Given the description of an element on the screen output the (x, y) to click on. 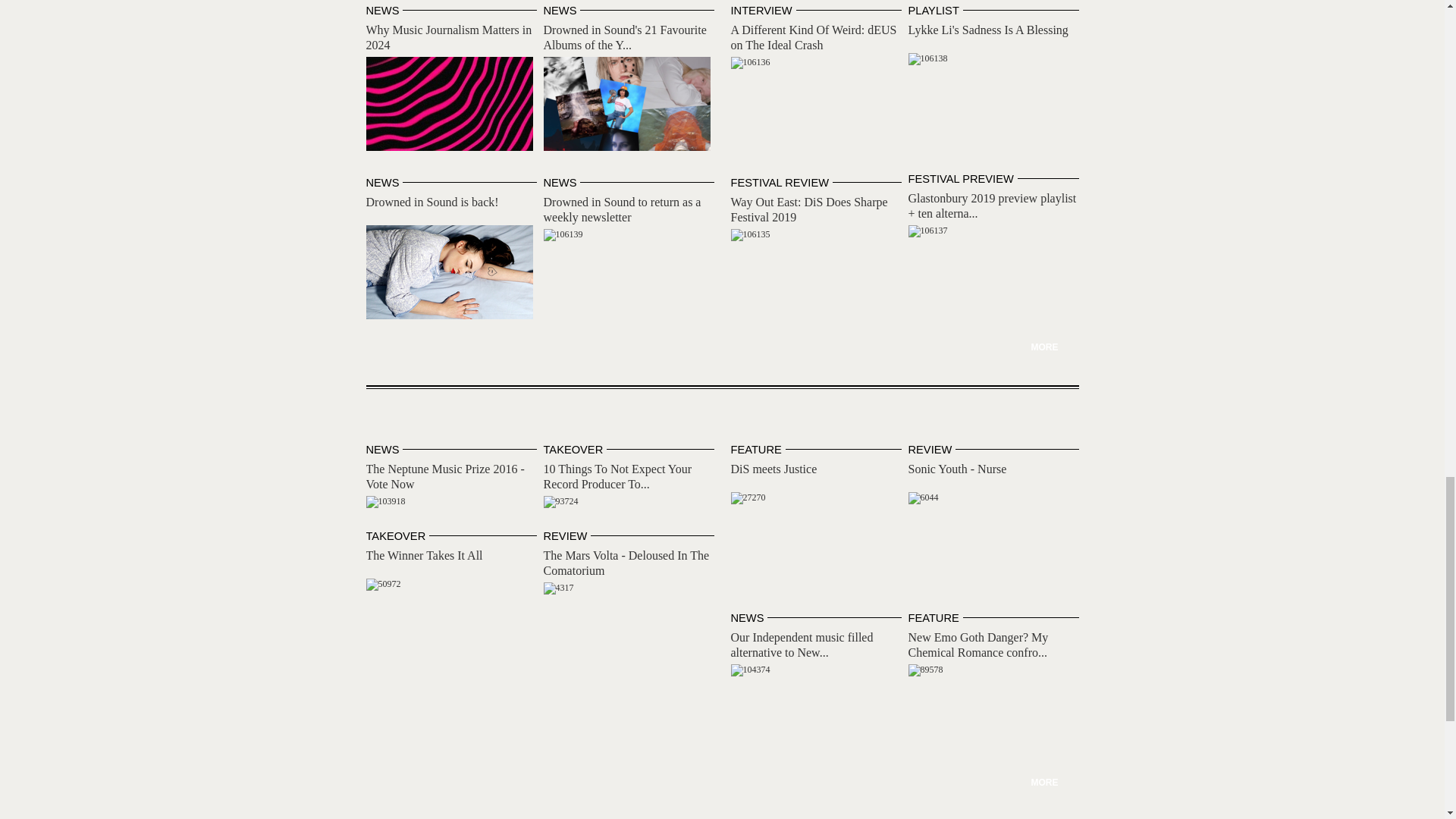
Lykke Li's Sadness Is A Blessing (988, 29)
Drowned in Sound to return as a weekly newsletter (562, 234)
A Different Kind Of Weird: dEUS on The Ideal Crash (750, 62)
The Neptune Music Prize 2016 - Vote Now (384, 501)
The Winner Takes It All (382, 584)
Sonic Youth - Nurse (923, 498)
Why Music Journalism Matters in 2024 (448, 37)
Drowned in Sound to return as a weekly newsletter (621, 209)
Drowned in Sound's 21 Favourite Albums of the Y... (624, 37)
Way Out East: DiS Does Sharpe Festival 2019 (750, 234)
